Given the description of an element on the screen output the (x, y) to click on. 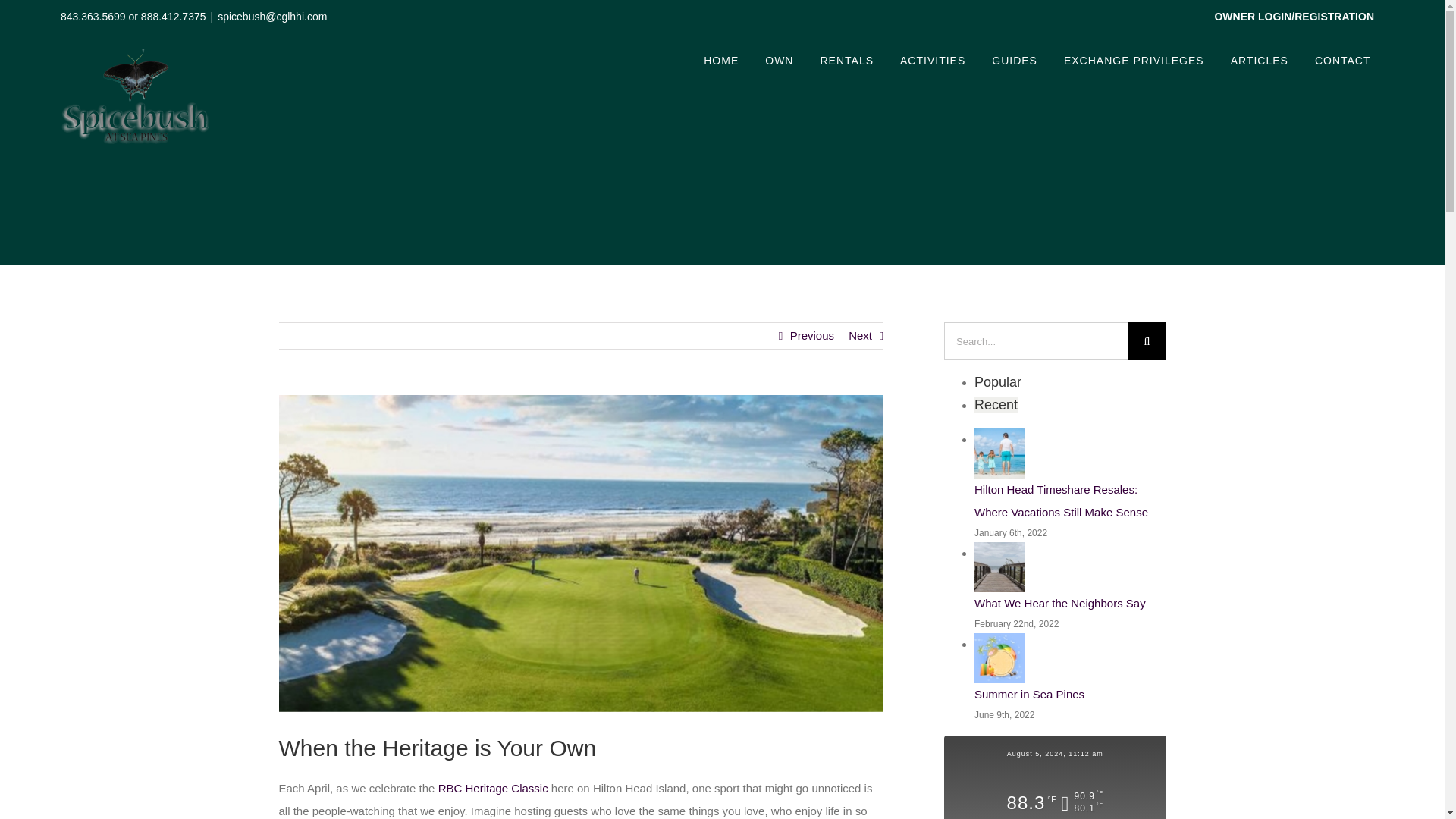
OWN (779, 60)
CONTACT (1342, 60)
GUIDES (1014, 60)
ARTICLES (1259, 60)
EXCHANGE PRIVILEGES (1133, 60)
HOME (721, 60)
Previous (812, 335)
ACTIVITIES (932, 60)
RBC Heritage Classic (493, 788)
Next (860, 335)
RENTALS (846, 60)
